Given the description of an element on the screen output the (x, y) to click on. 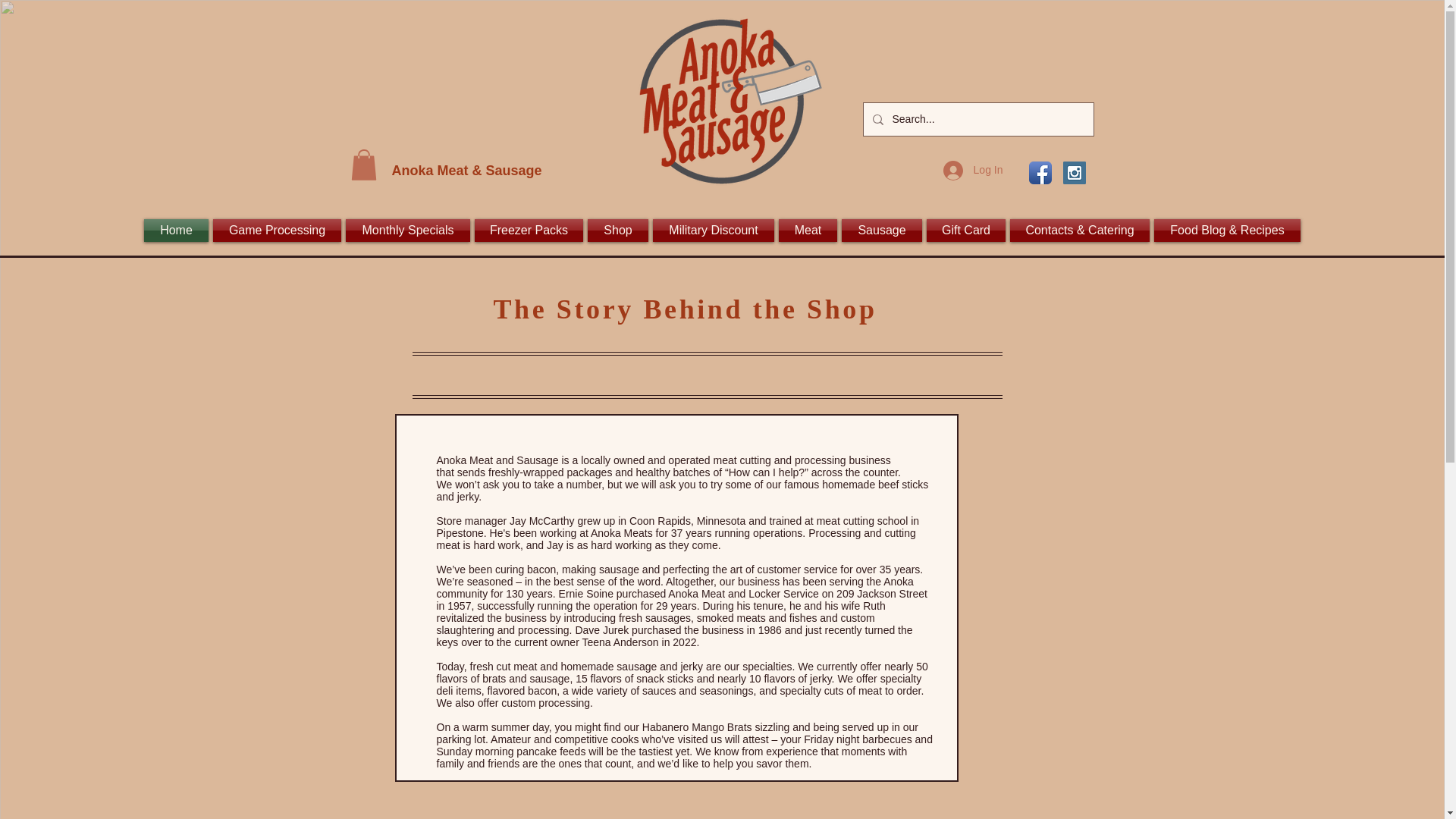
Game Processing (277, 230)
Military Discount (713, 230)
Gift Card (965, 230)
Freezer Packs (528, 230)
Monthly Specials (407, 230)
Meat (808, 230)
Shop (617, 230)
Sausage (882, 230)
Home (177, 230)
Log In (973, 170)
